Given the description of an element on the screen output the (x, y) to click on. 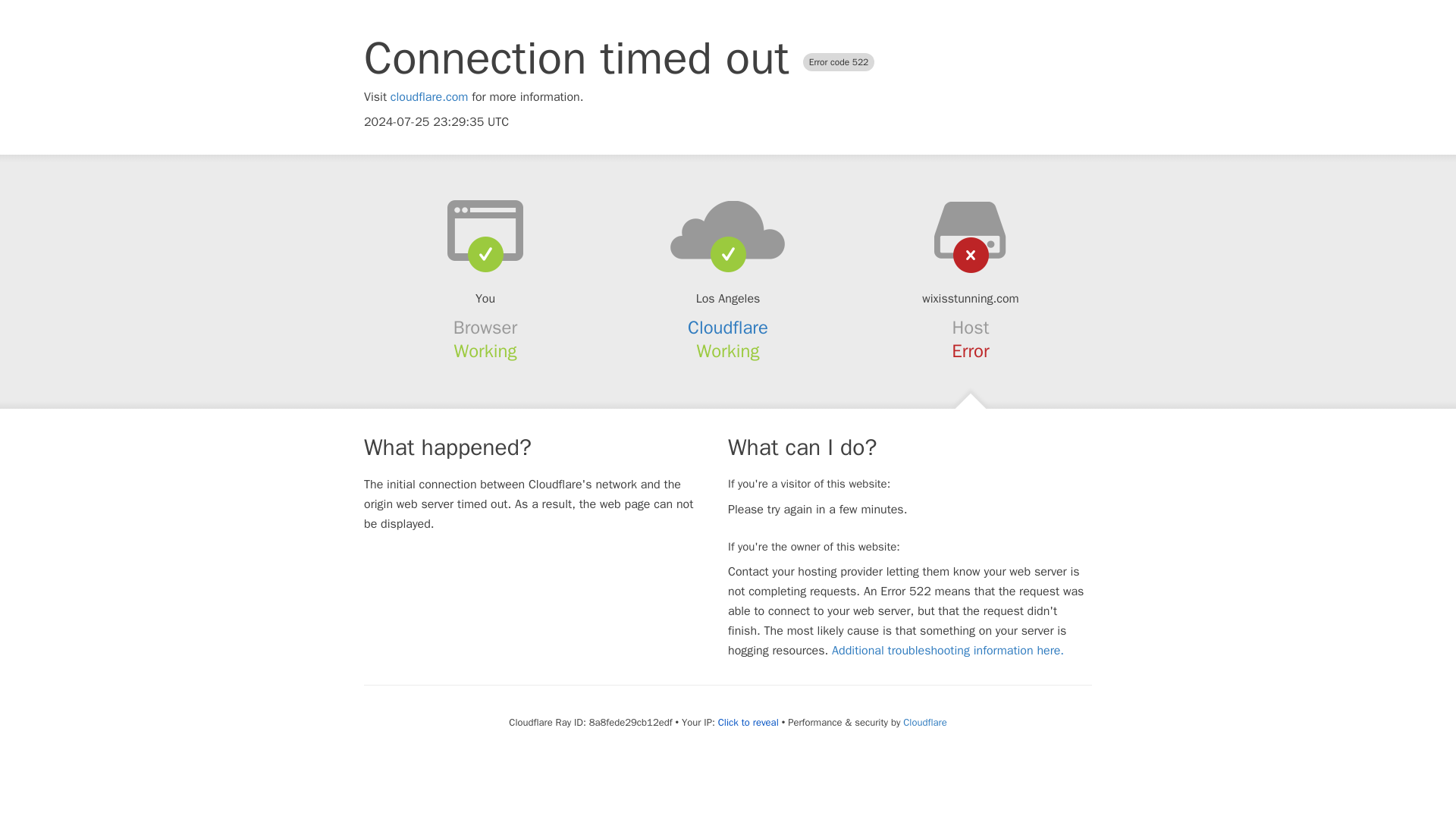
Cloudflare (924, 721)
cloudflare.com (429, 96)
Additional troubleshooting information here. (947, 650)
Click to reveal (747, 722)
Cloudflare (727, 327)
